Given the description of an element on the screen output the (x, y) to click on. 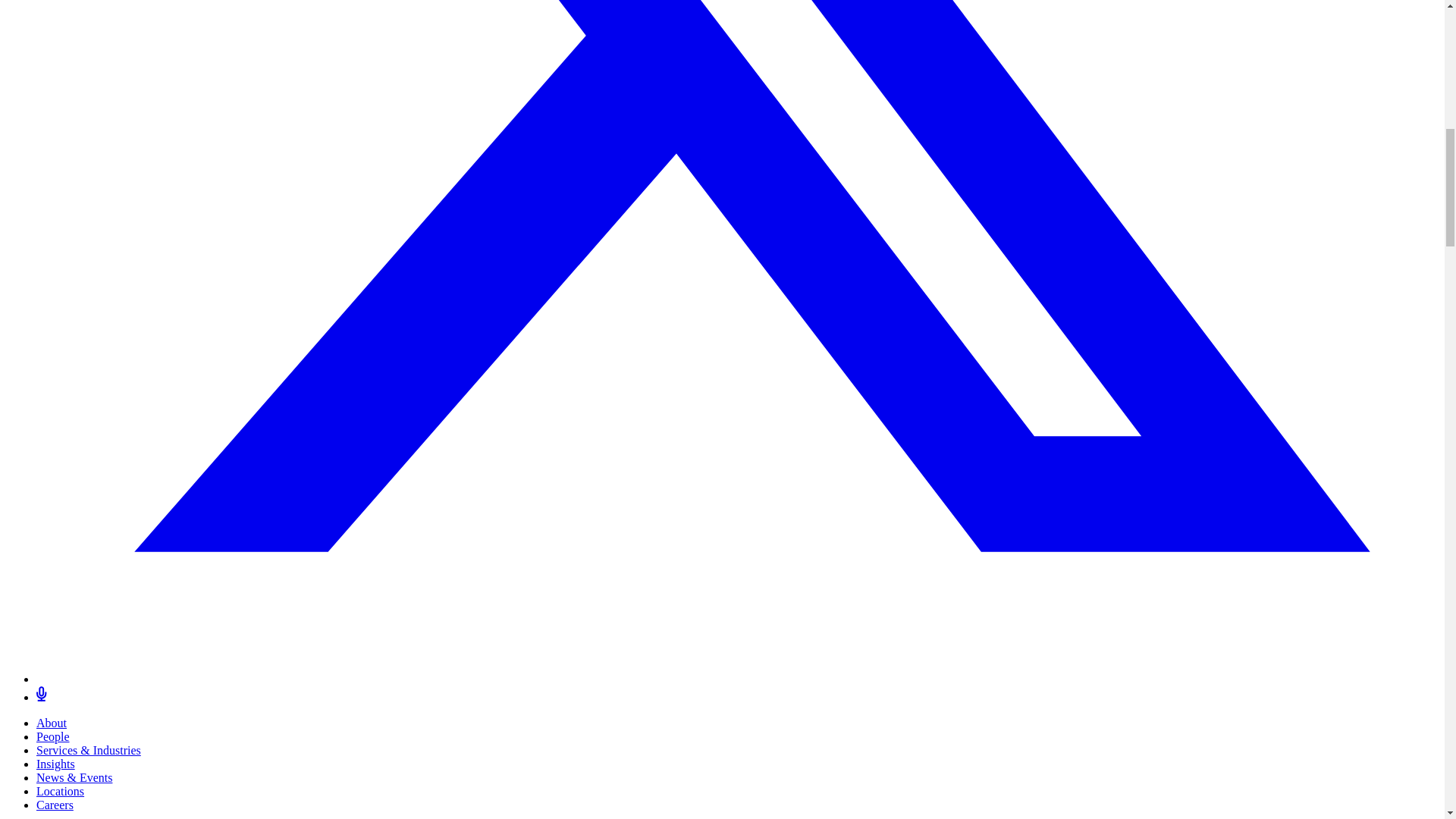
podcasts (41, 697)
Insights (55, 763)
Locations (60, 790)
About (51, 722)
Careers (55, 804)
People (52, 736)
